Given the description of an element on the screen output the (x, y) to click on. 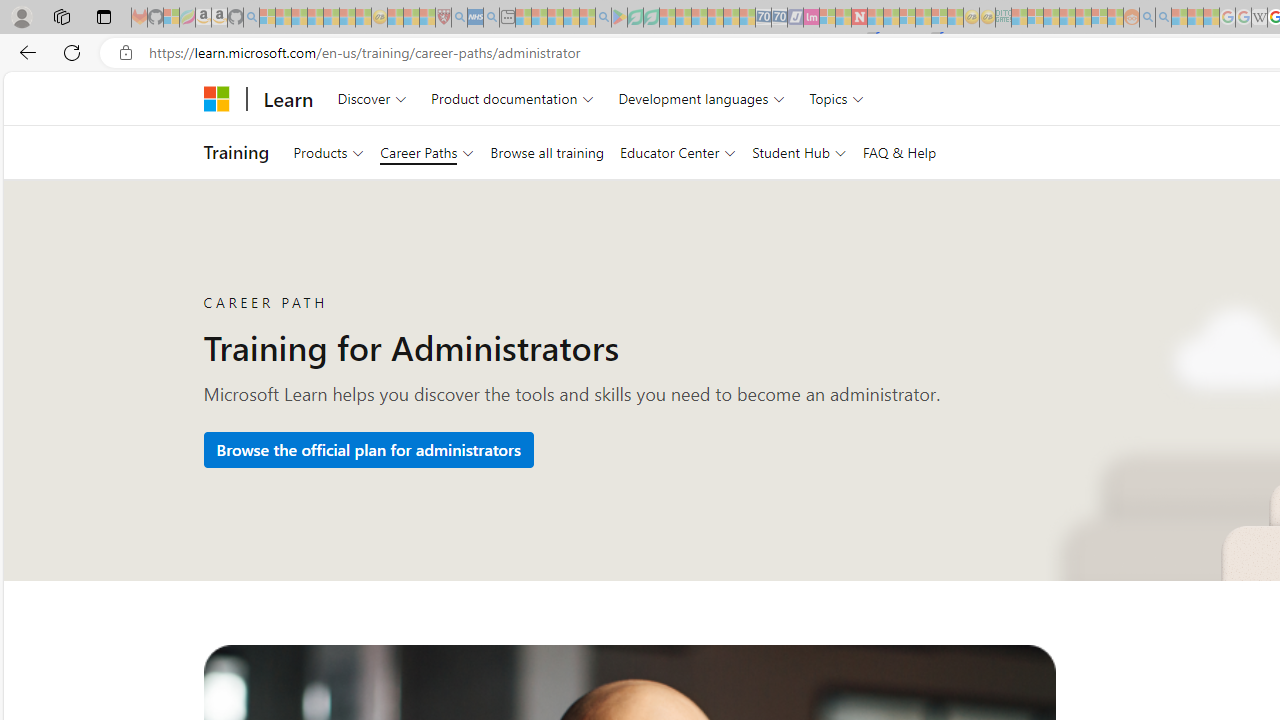
FAQ & Help (898, 152)
Browse all training (546, 152)
Products (328, 152)
Topics (836, 98)
Learn (288, 98)
